Given the description of an element on the screen output the (x, y) to click on. 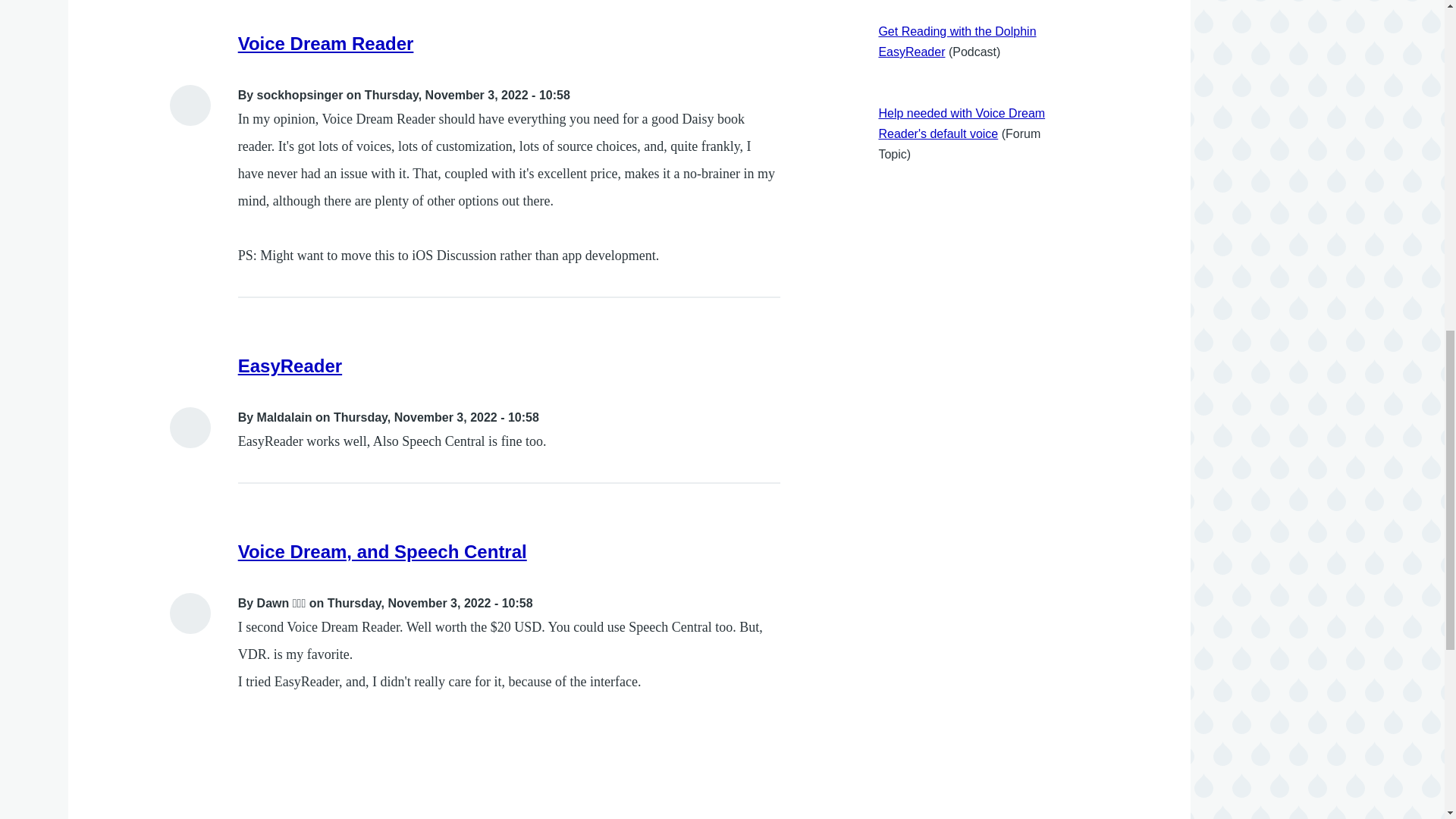
Voice Dream Reader (325, 43)
Get Reading with the Dolphin EasyReader (956, 41)
Voice Dream, and Speech Central (382, 551)
Help needed with Voice Dream Reader's default voice (961, 123)
EasyReader (290, 365)
